Given the description of an element on the screen output the (x, y) to click on. 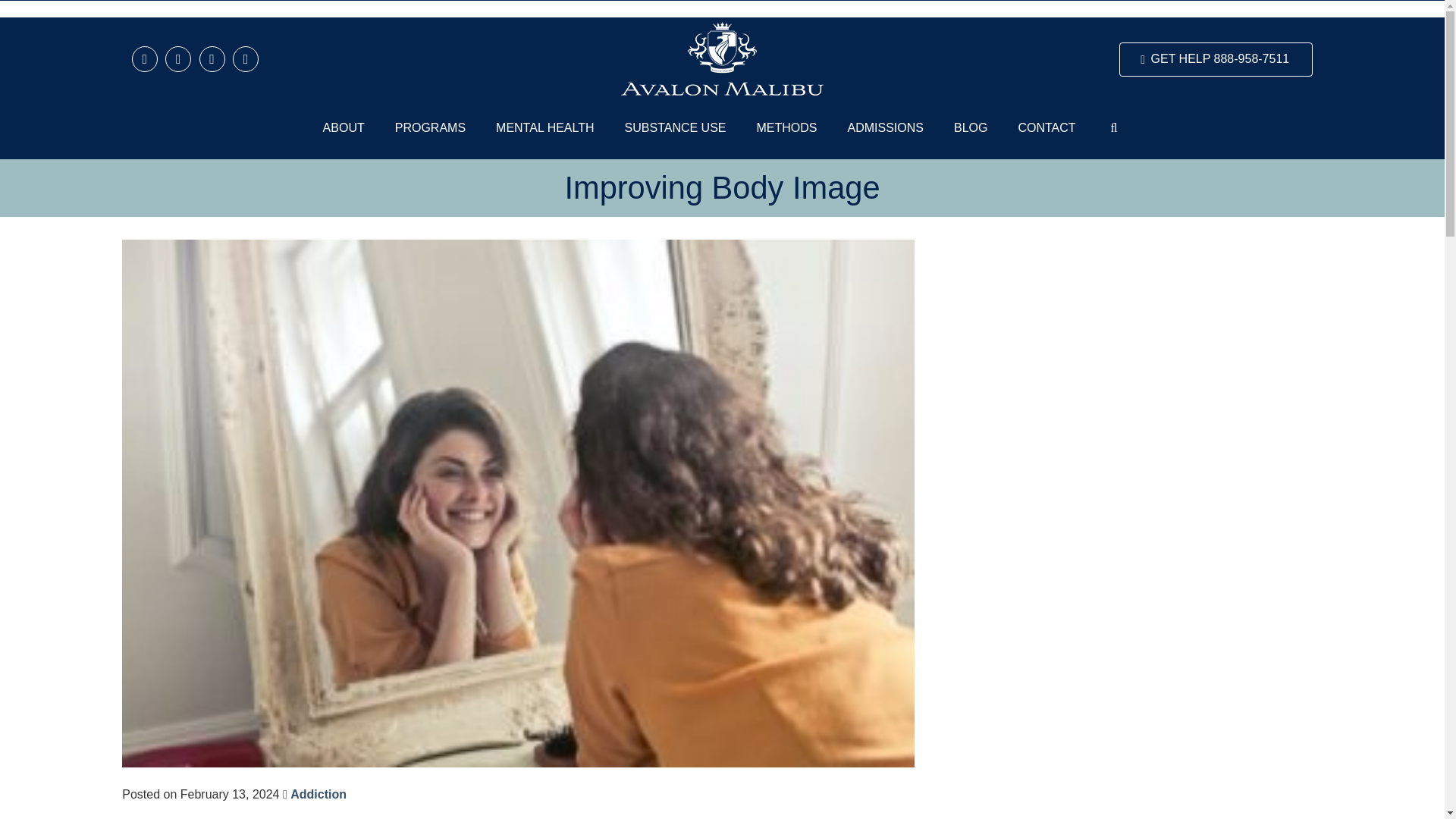
MENTAL HEALTH (545, 127)
Avalon Malibu (722, 58)
GET HELP 888-958-7511 (1216, 59)
linkedin (247, 59)
twitter (148, 59)
ABOUT (343, 127)
PROGRAMS (430, 127)
facebook (181, 59)
instagram (215, 59)
